Given the description of an element on the screen output the (x, y) to click on. 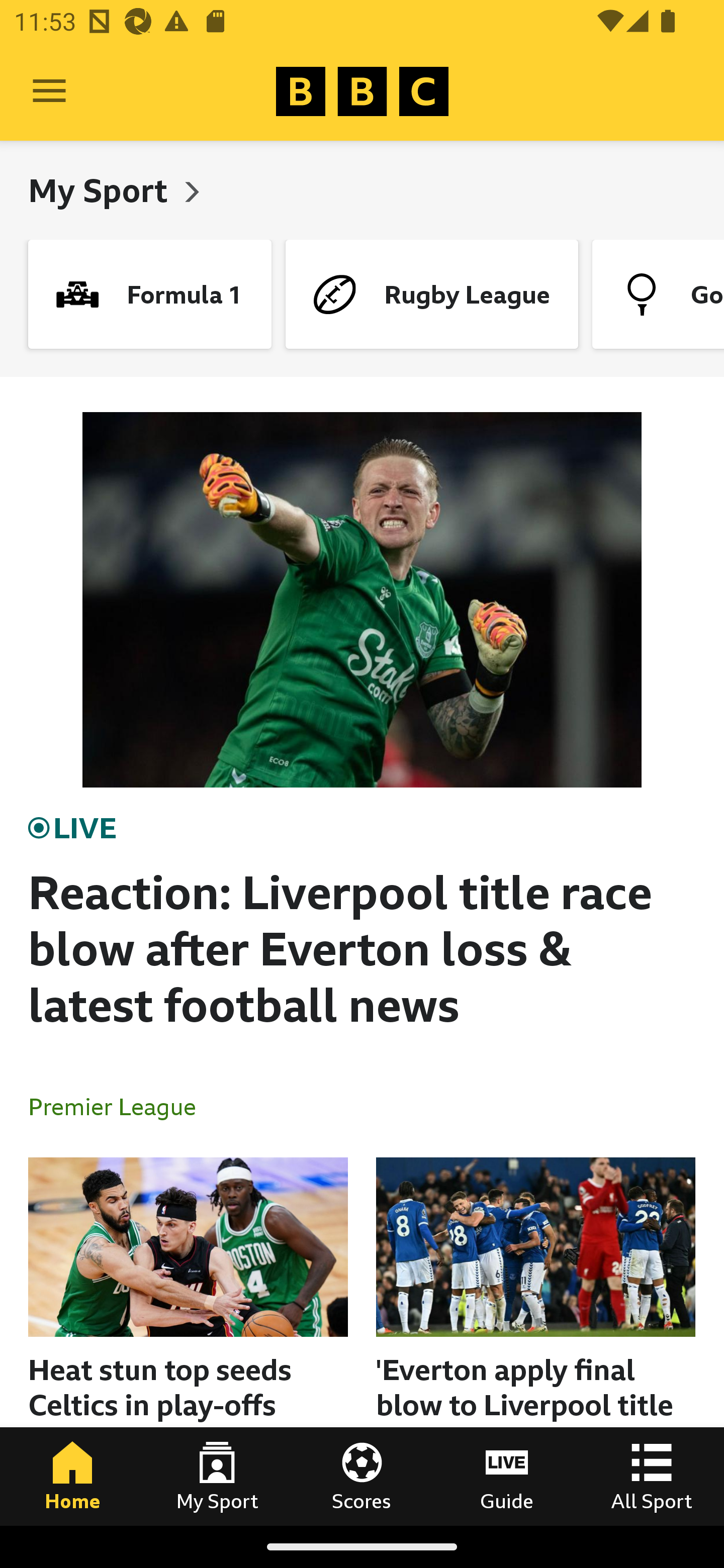
Open Menu (49, 91)
My Sport (101, 190)
Premier League In the section Premier League (119, 1106)
My Sport (216, 1475)
Scores (361, 1475)
Guide (506, 1475)
All Sport (651, 1475)
